Given the description of an element on the screen output the (x, y) to click on. 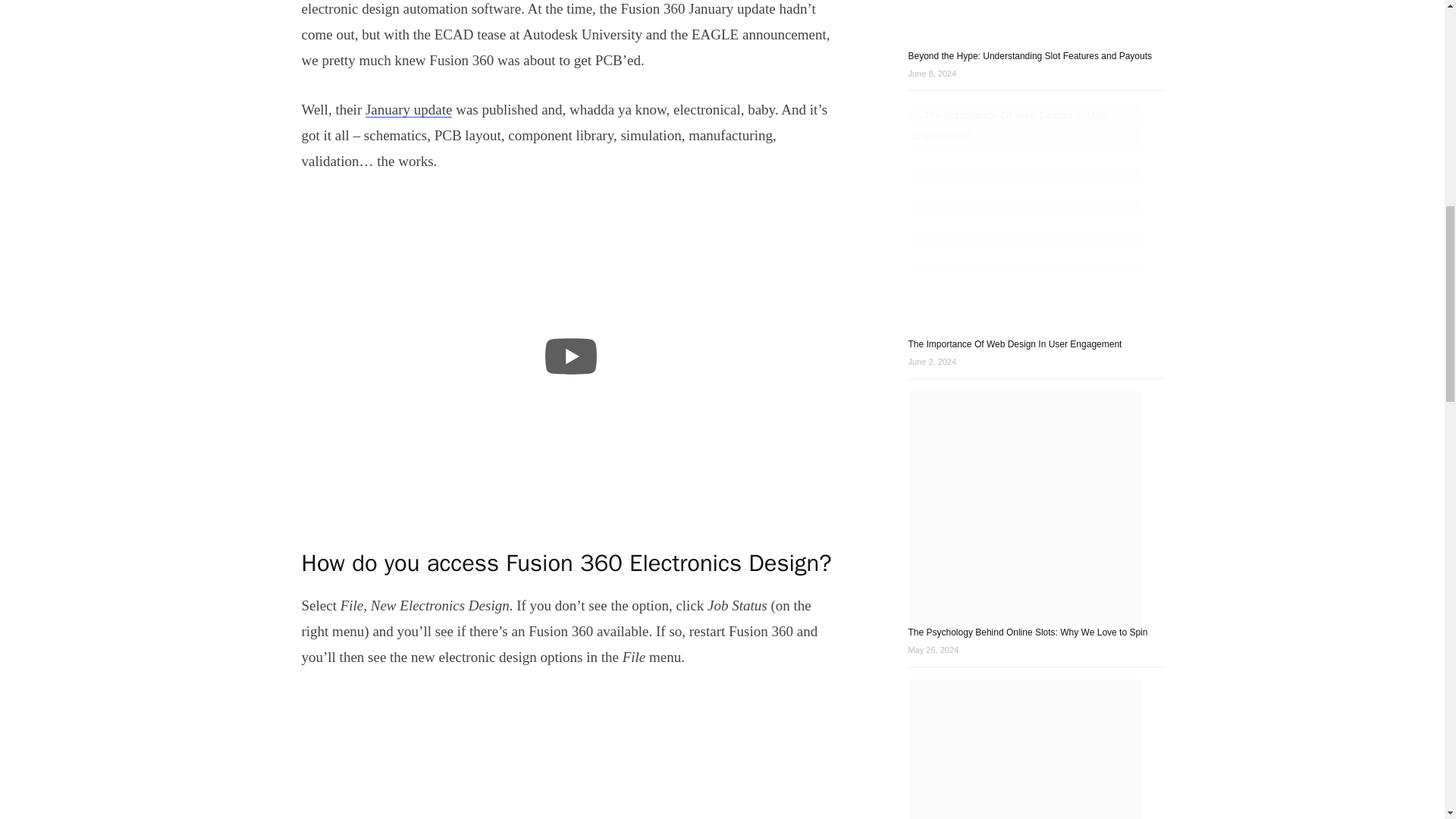
January update (408, 109)
